Given the description of an element on the screen output the (x, y) to click on. 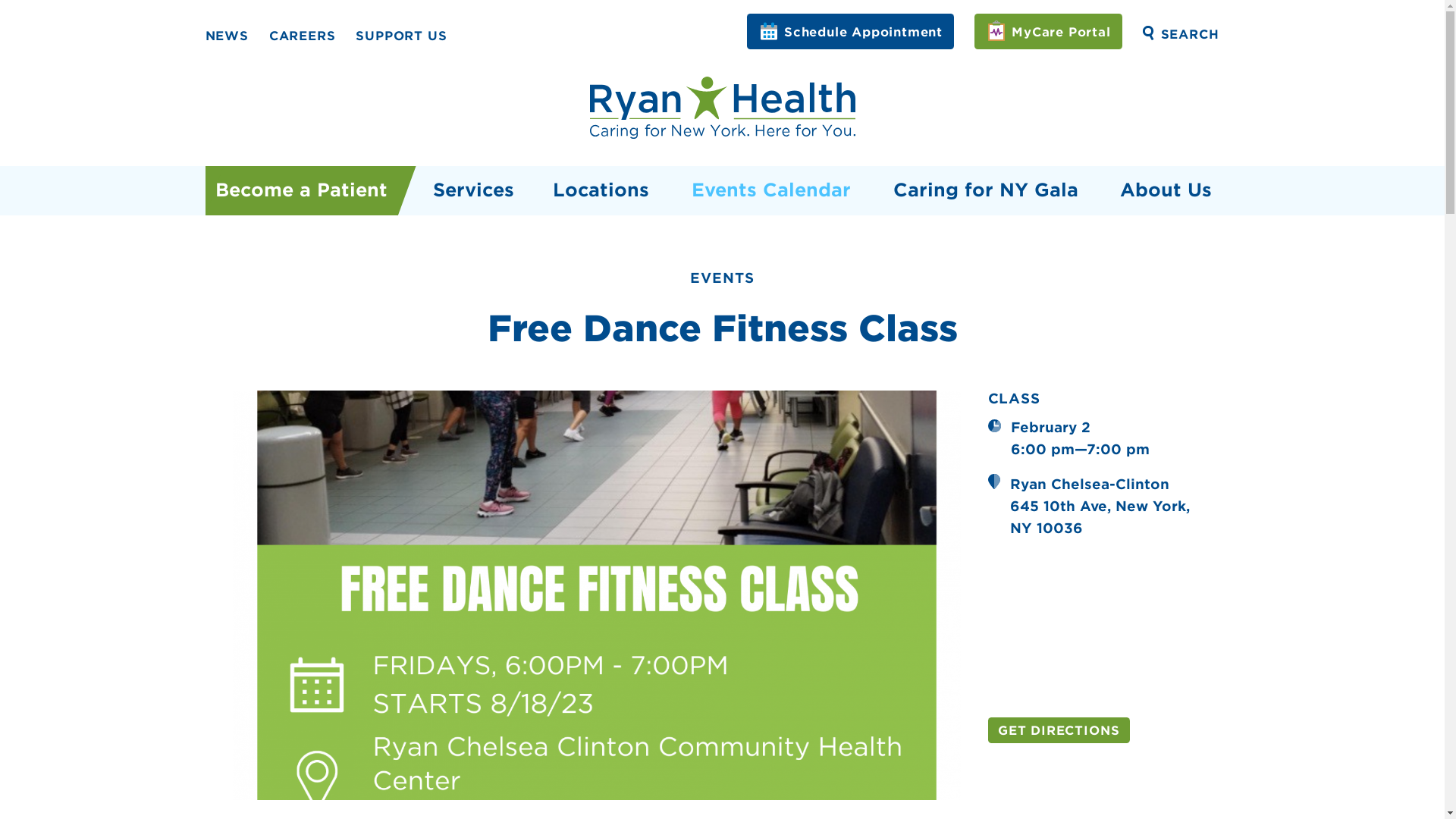
Locations (601, 190)
NEWS (226, 35)
SUPPORT US (400, 35)
About Us (1174, 190)
GET DIRECTIONS (1058, 729)
Events Calendar (771, 190)
Become a Patient (301, 190)
SEARCH (1181, 34)
Caring for NY Gala (984, 190)
MyCare Portal (1048, 31)
Services (470, 190)
Schedule Appointment (849, 31)
CAREERS (302, 35)
